Given the description of an element on the screen output the (x, y) to click on. 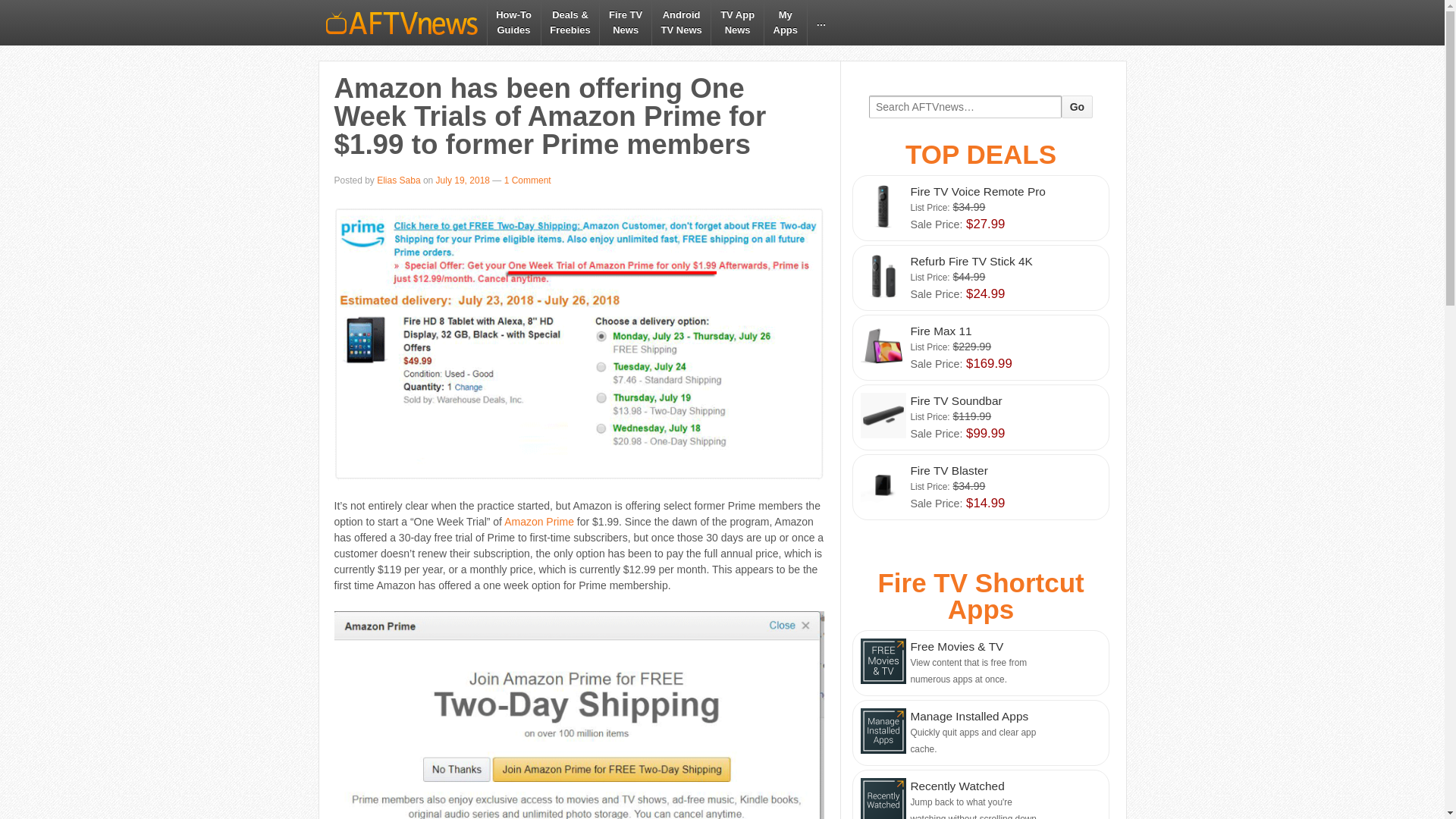
Refurb Fire TV Stick 4K (680, 22)
Amazon Prime (979, 277)
Go (538, 521)
Fire Max 11 (513, 22)
Elias Saba (1077, 106)
Fire TV Voice Remote Pro (979, 347)
